Given the description of an element on the screen output the (x, y) to click on. 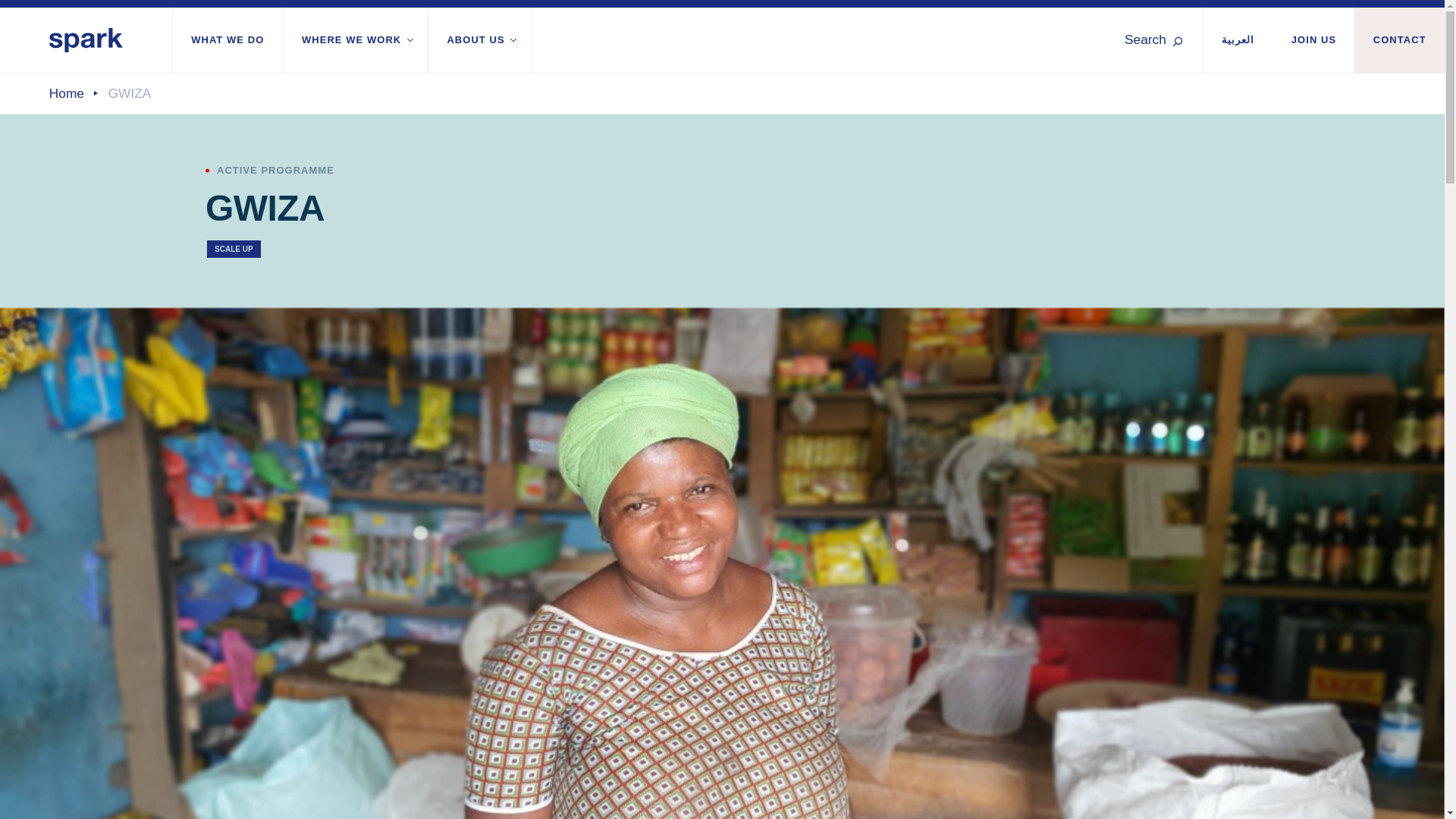
JOIN US (1313, 39)
WHAT WE DO (227, 39)
ABOUT US (479, 39)
WHERE WE WORK (355, 39)
Visit the Spark homepage (86, 39)
CONTACT (1399, 39)
